Given the description of an element on the screen output the (x, y) to click on. 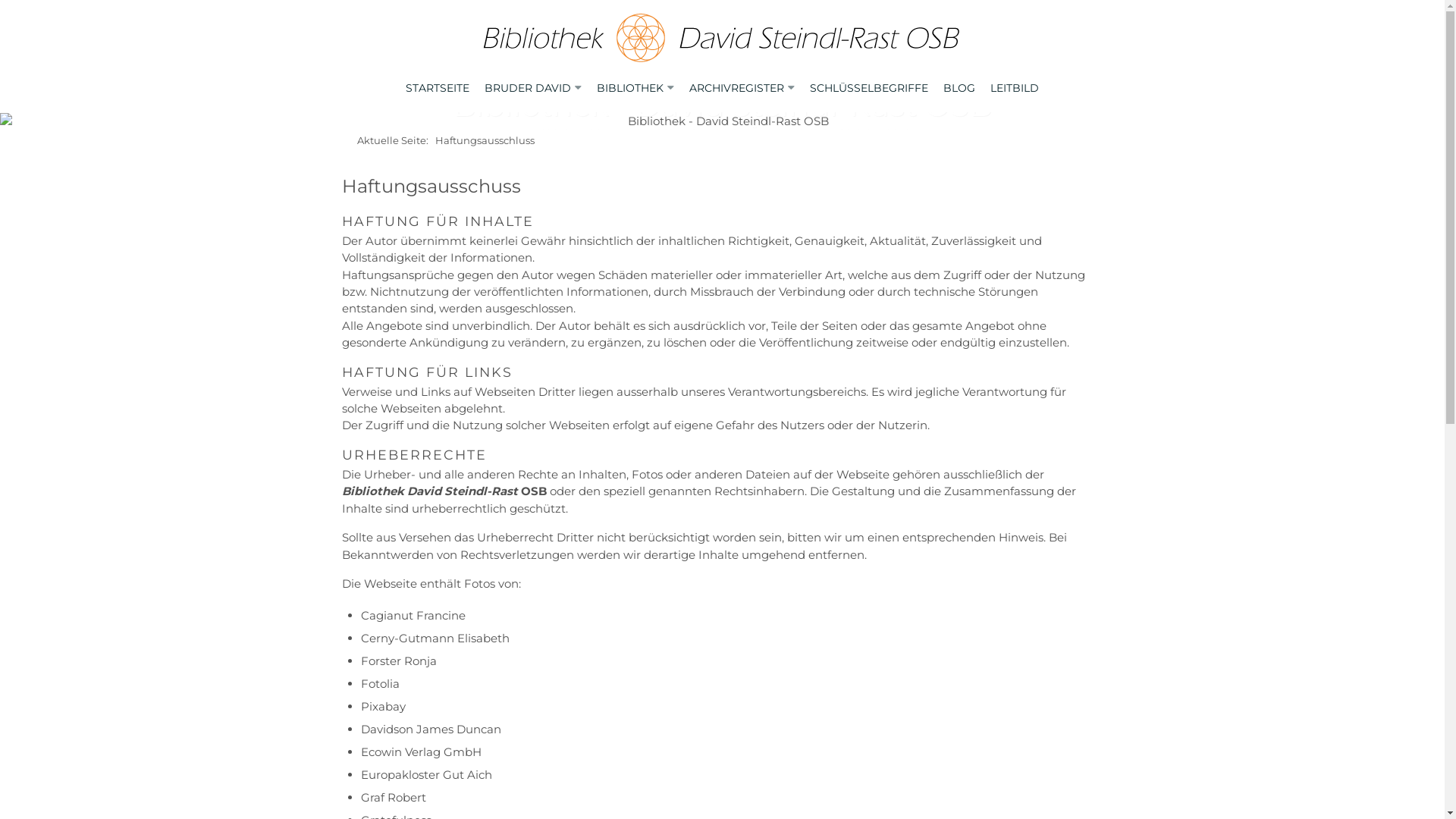
BRUDER DAVID Element type: text (527, 87)
LEITBILD Element type: text (1014, 87)
BIBLIOTHEK Element type: text (629, 87)
ARCHIVREGISTER Element type: text (736, 87)
BLOG Element type: text (959, 87)
STARTSEITE Element type: text (437, 87)
